Given the description of an element on the screen output the (x, y) to click on. 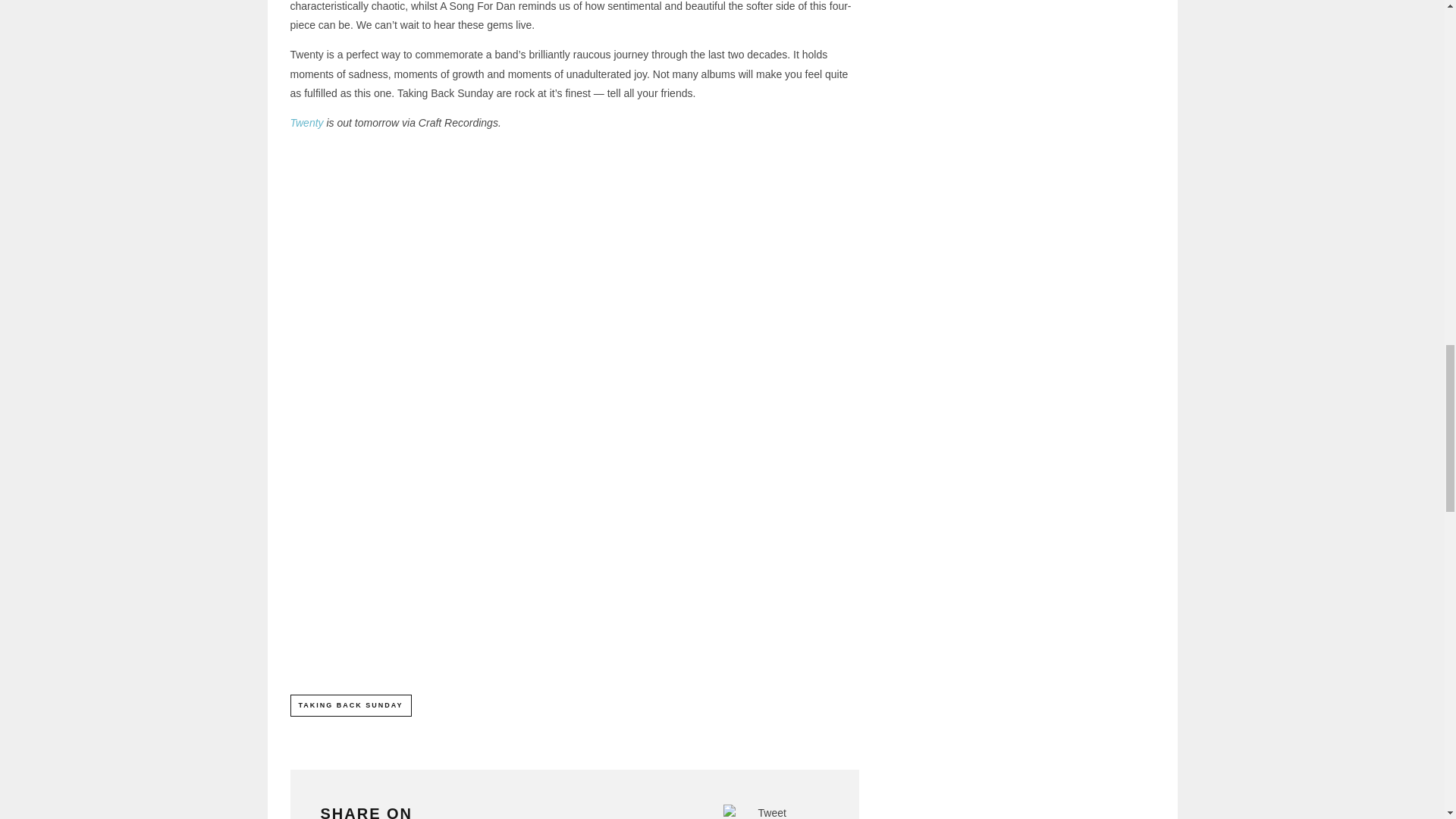
TAKING BACK SUNDAY (349, 704)
Twenty (306, 122)
Tweet (772, 812)
